Given the description of an element on the screen output the (x, y) to click on. 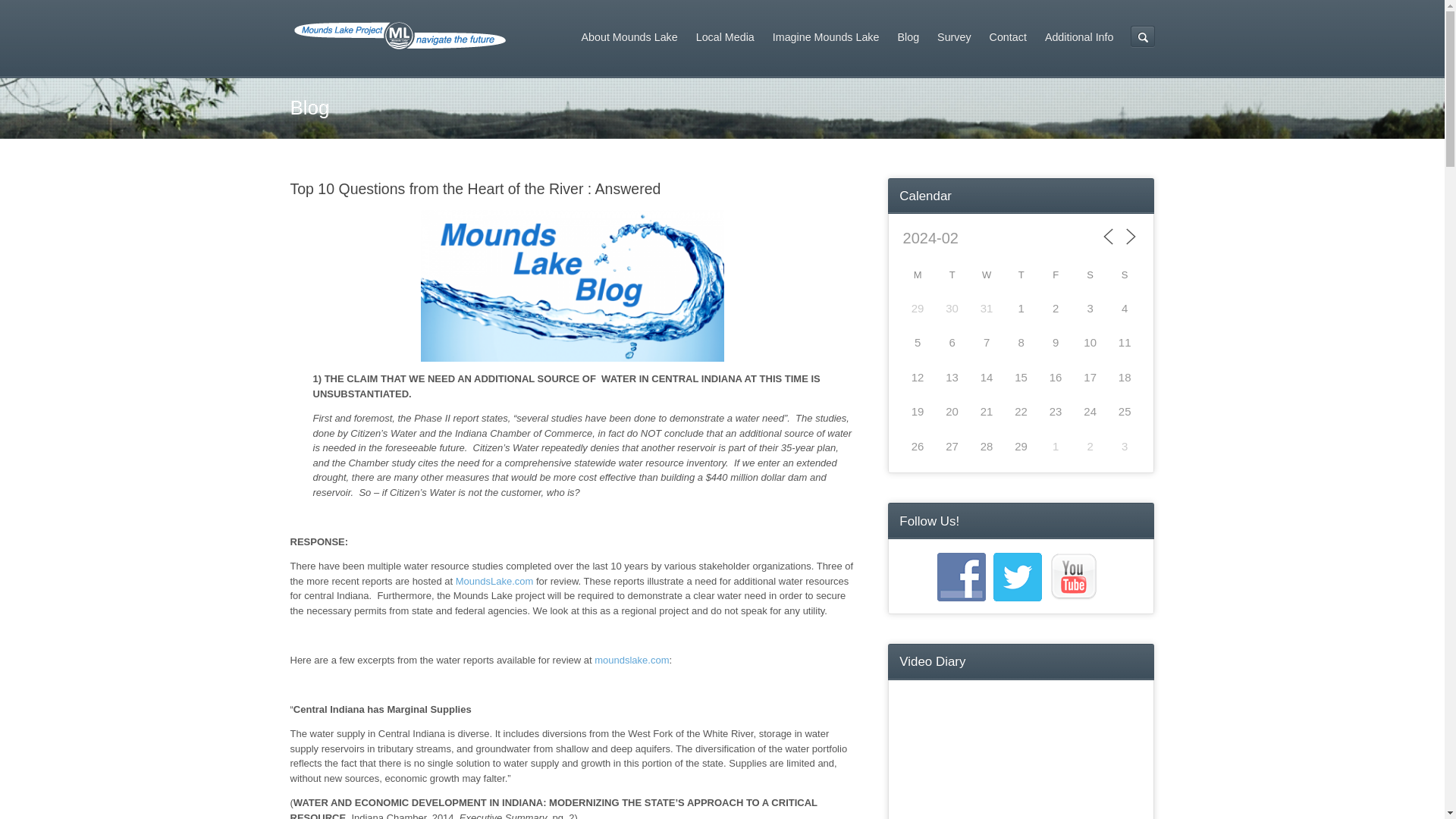
Survey (953, 37)
YouTube player (1020, 759)
Follow Us on Facebook (961, 576)
Blog (908, 37)
Additional Info (1078, 37)
Follow Us on YouTube (1073, 576)
moundslake.com (631, 659)
Contact (1007, 37)
About Mounds Lake (629, 37)
Imagine Mounds Lake (825, 37)
MoundsLake.com (494, 581)
Local Media (724, 37)
2024-02 (972, 237)
Follow Us on Twitter (1017, 576)
